Given the description of an element on the screen output the (x, y) to click on. 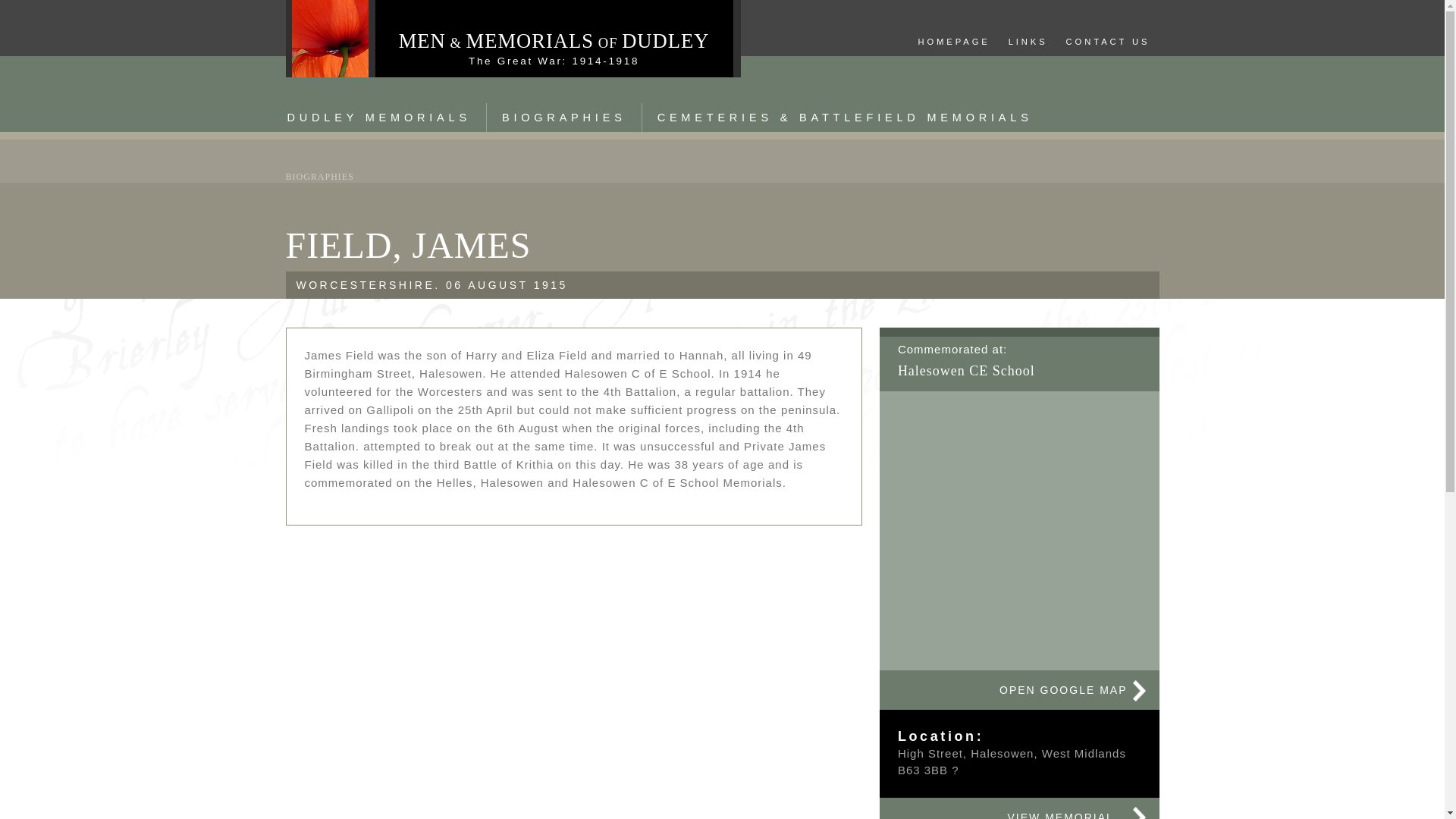
DUDLEY MEMORIALS (377, 117)
Biographies (564, 117)
BIOGRAPHIES (319, 176)
Biographies (319, 176)
Homepage (953, 42)
BIOGRAPHIES (564, 117)
LINKS (1027, 42)
Other Memorials (845, 117)
HOMEPAGE (953, 42)
View Memorial... (1018, 808)
Contact Us (1107, 42)
Open in Google Maps for Directions (1018, 690)
CONTACT US (1107, 42)
Dudley Memorials (377, 117)
Links (1027, 42)
